Given the description of an element on the screen output the (x, y) to click on. 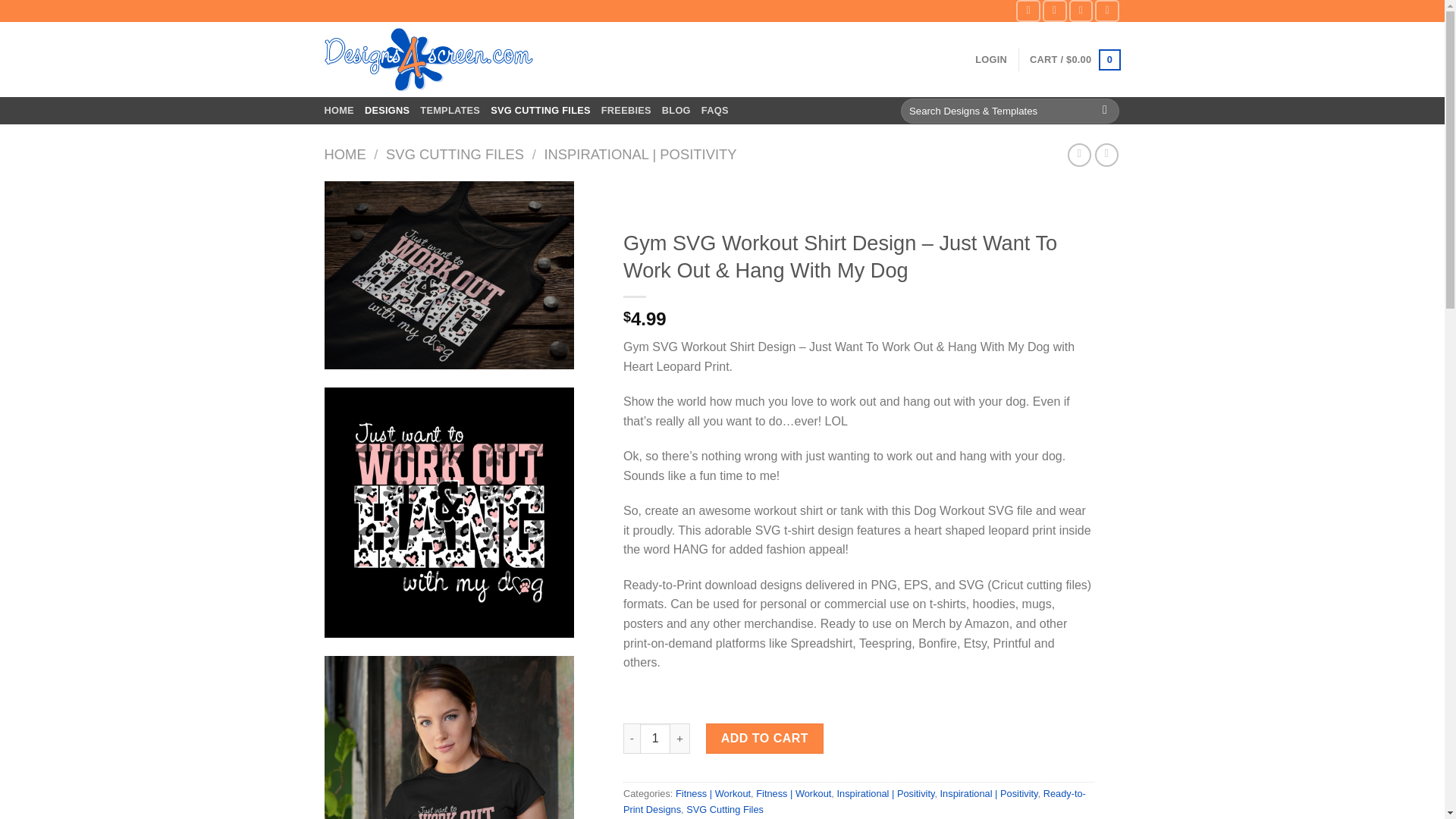
SVG CUTTING FILES (540, 110)
DESIGNS (387, 110)
HOME (338, 110)
Search (1105, 111)
BLOG (676, 110)
1 (654, 738)
FREEBIES (625, 110)
Follow on Pinterest (1106, 11)
Follow on Instagram (1054, 11)
LOGIN (991, 59)
- (631, 738)
Screen Print Designs (338, 110)
Free T Shirt Designs (625, 110)
HOME (345, 154)
SVG CUTTING FILES (454, 154)
